Given the description of an element on the screen output the (x, y) to click on. 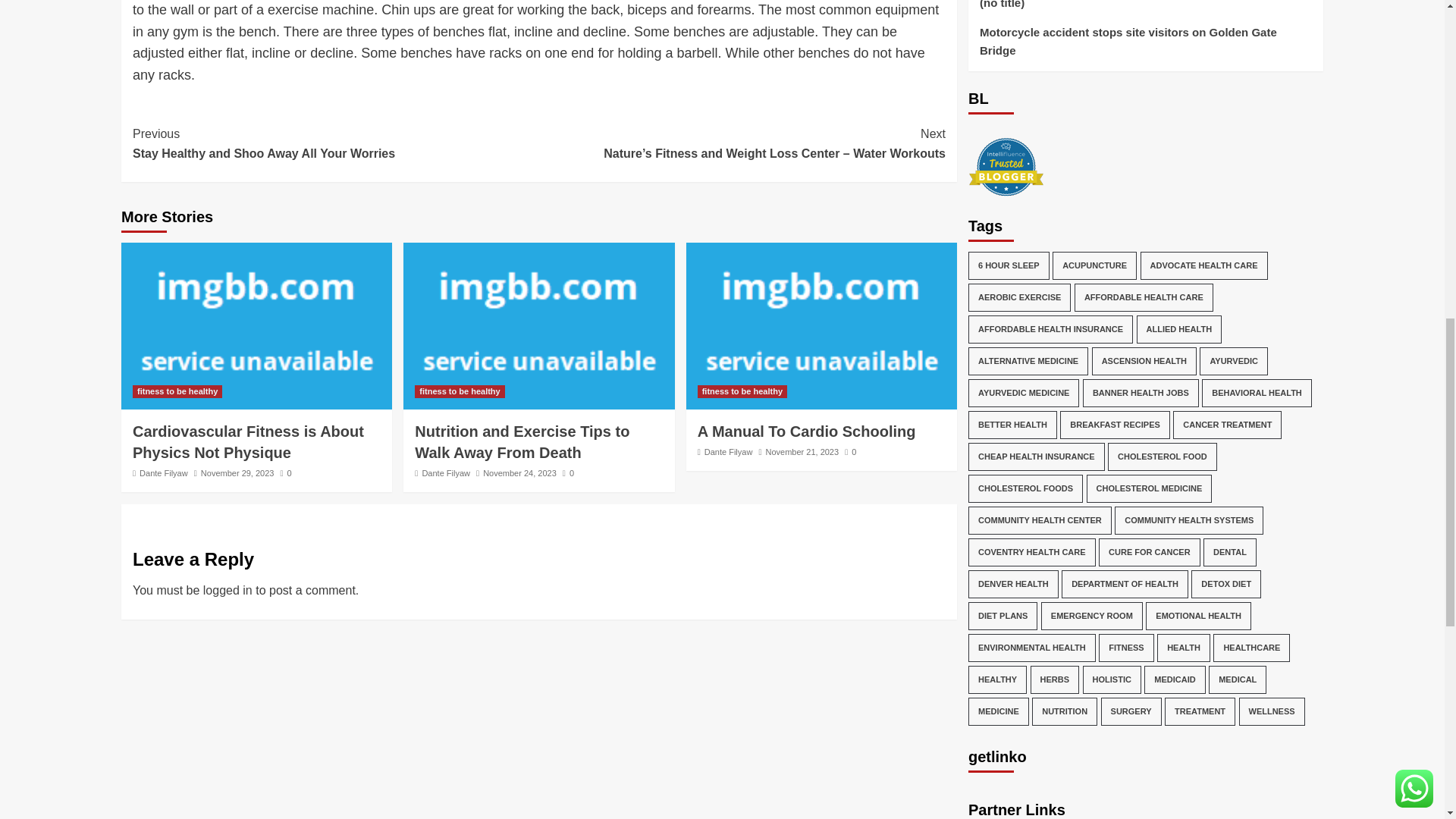
Nutrition and Exercise Tips to Walk Away From Death (538, 325)
Nutrition and Exercise Tips to Walk Away From Death (521, 442)
0 (286, 472)
0 (567, 472)
Dante Filyaw (163, 472)
November 29, 2023 (237, 472)
fitness to be healthy (742, 391)
fitness to be healthy (458, 391)
Cardiovascular Fitness is About Physics Not Physique (335, 143)
November 24, 2023 (248, 442)
Cardiovascular Fitness is About Physics Not Physique (519, 472)
fitness to be healthy (255, 325)
A Manual To Cardio Schooling (177, 391)
Dante Filyaw (820, 325)
